Given the description of an element on the screen output the (x, y) to click on. 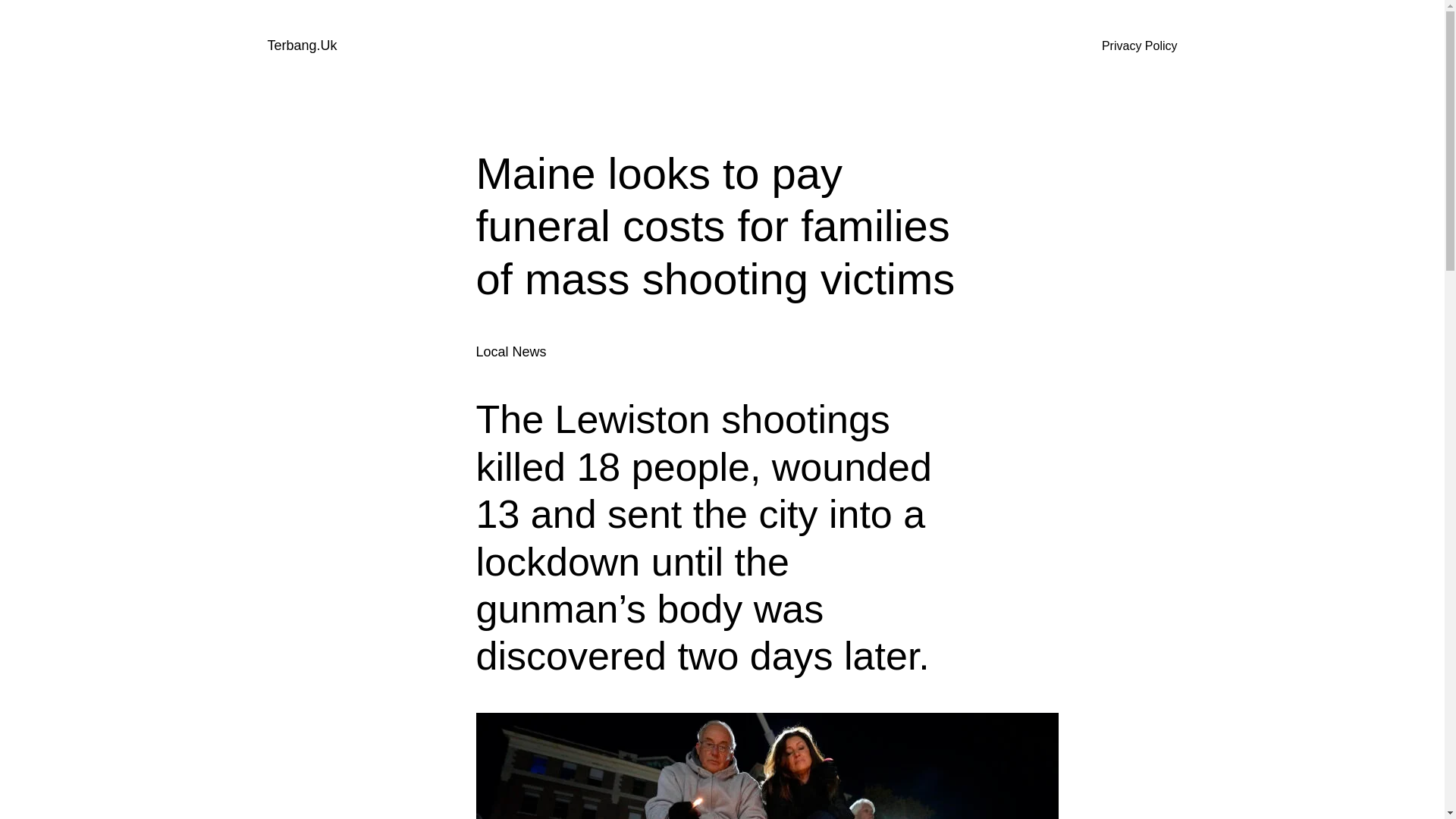
Terbang.Uk (301, 45)
Privacy Policy (1139, 46)
